Given the description of an element on the screen output the (x, y) to click on. 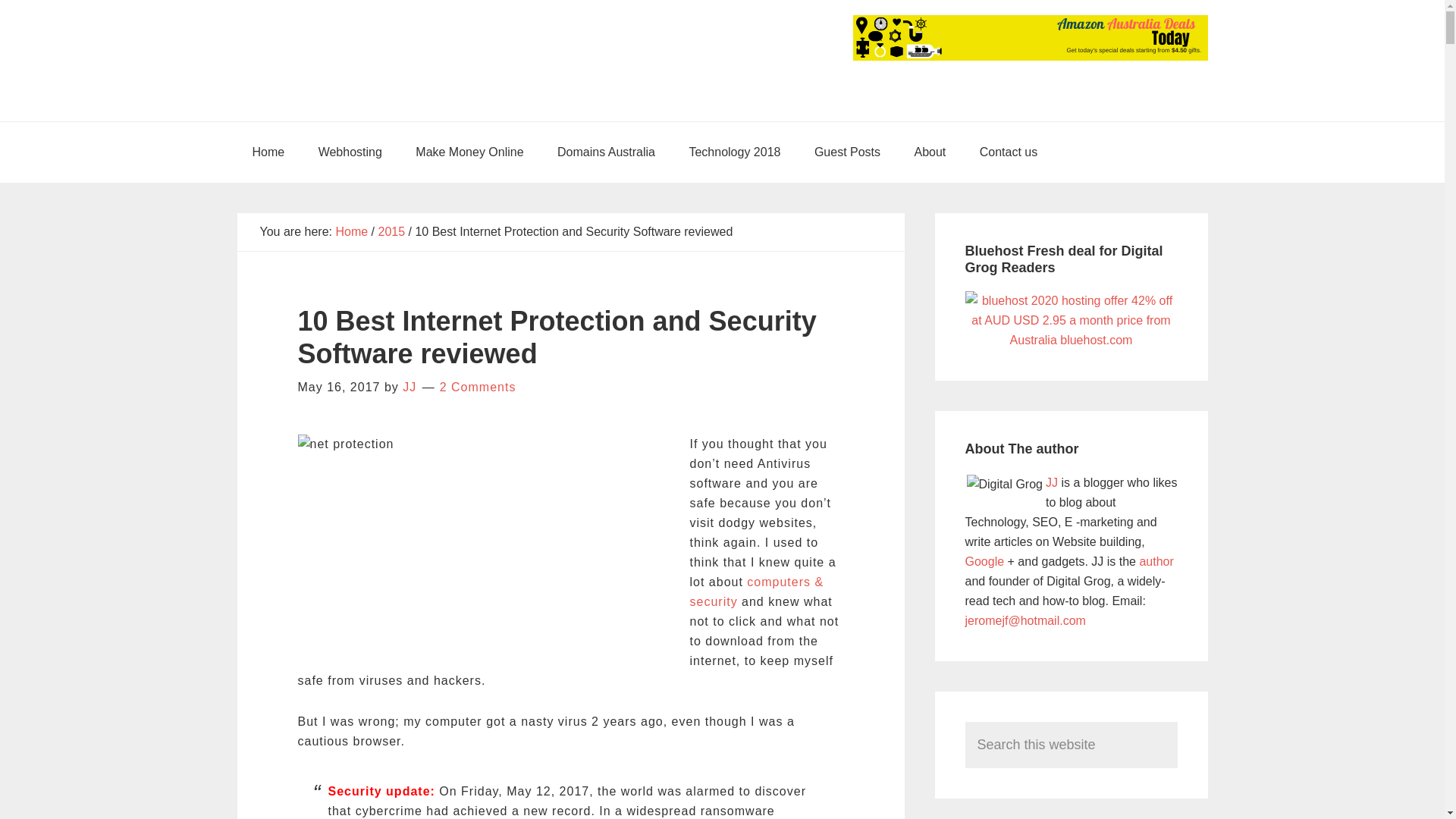
JJ (409, 386)
Domain Names and Australia (605, 152)
2 Comments (477, 386)
About (929, 152)
Domains Australia (605, 152)
Latest Tech and News (733, 152)
Building a Blog in 2018 (349, 152)
Webhosting (349, 152)
Make Money Online (469, 152)
